Given the description of an element on the screen output the (x, y) to click on. 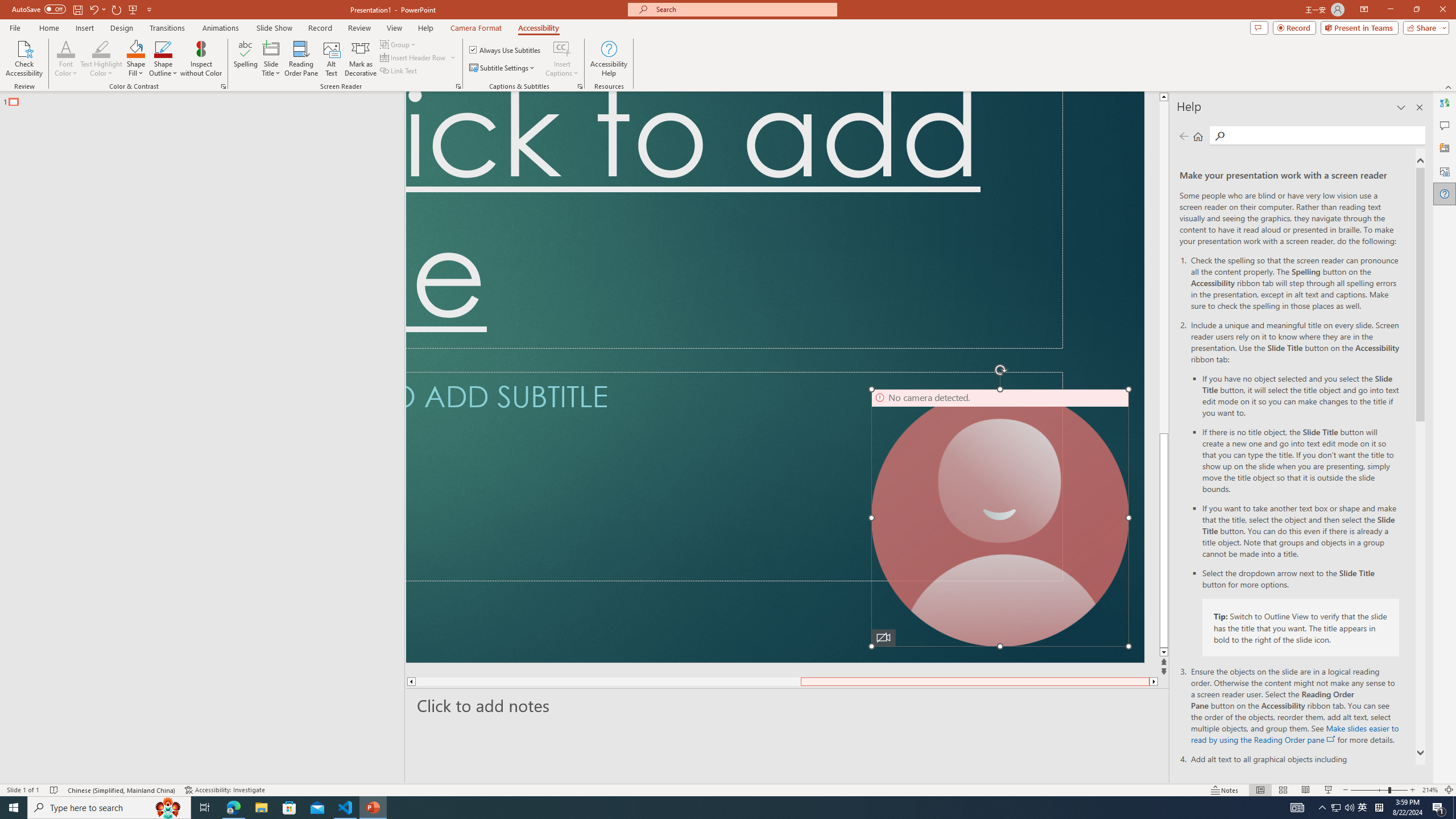
Title TextBox (734, 219)
Group (398, 44)
